Given the description of an element on the screen output the (x, y) to click on. 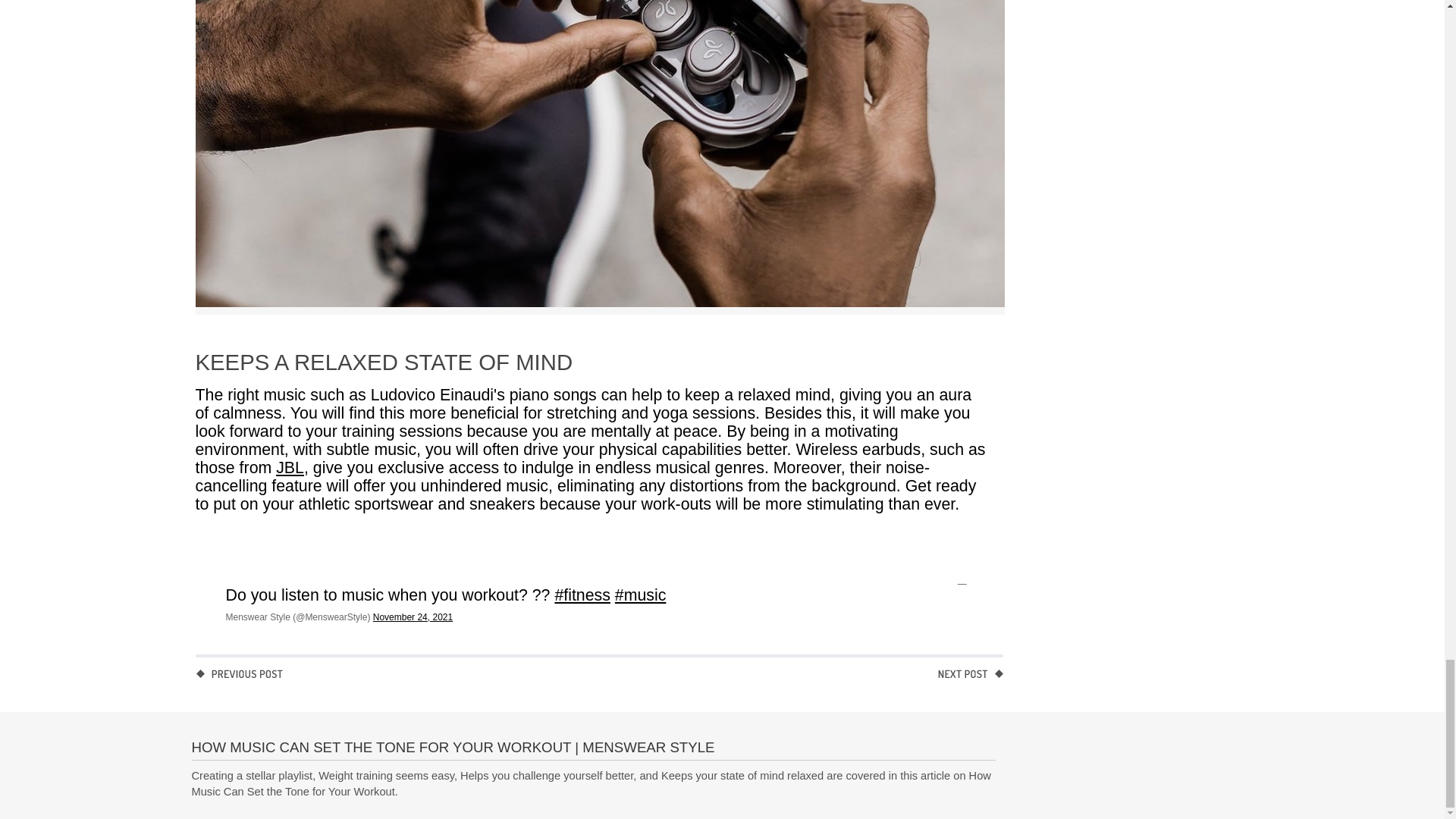
next post (970, 675)
